Given the description of an element on the screen output the (x, y) to click on. 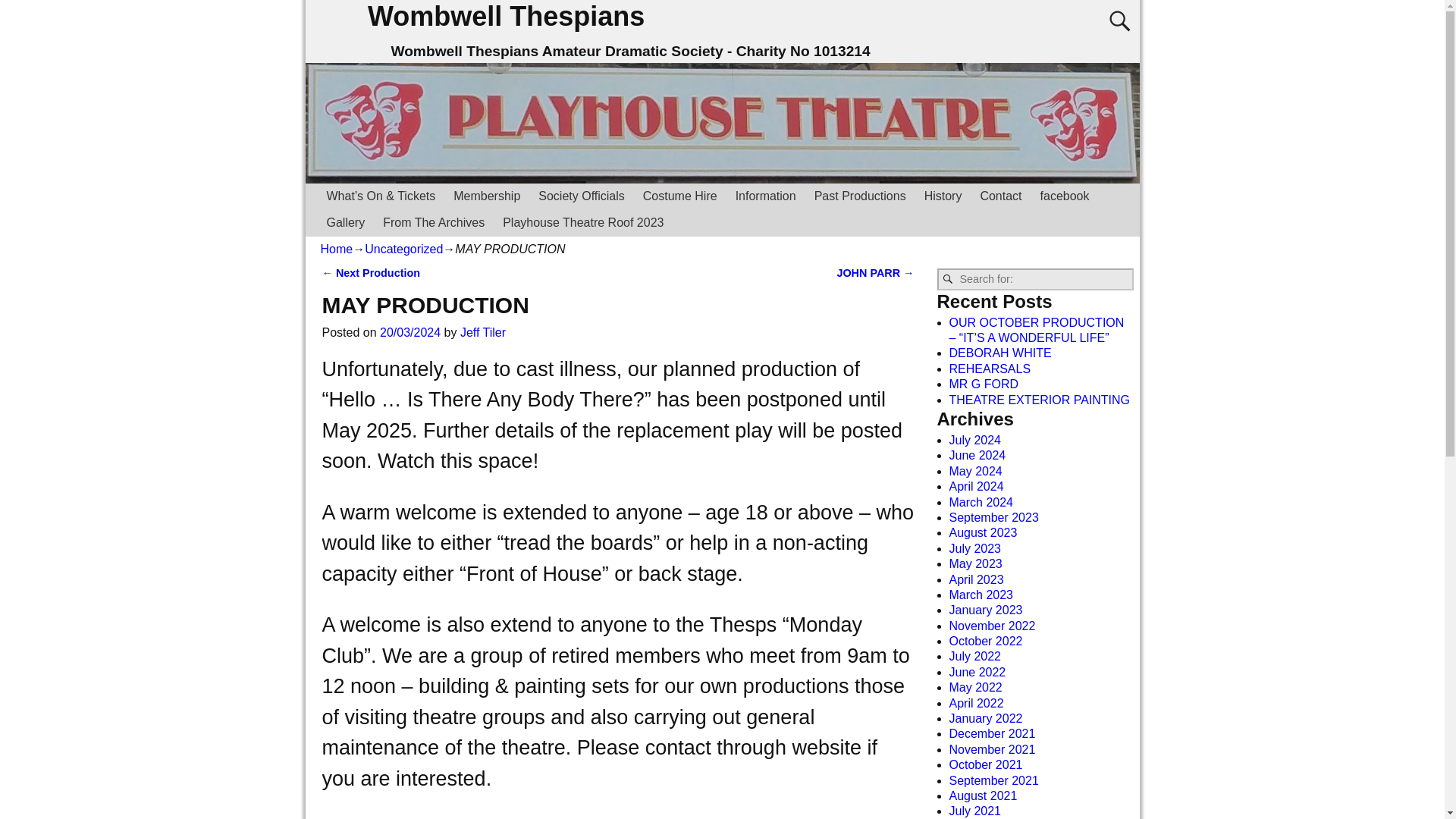
Home (336, 248)
Jeff Tiler (482, 332)
REHEARSALS (989, 368)
View all posts by Jeff Tiler (482, 332)
May 2024 (976, 471)
History (943, 196)
April 2024 (976, 486)
June 2024 (977, 454)
July 2024 (975, 440)
Contact (1000, 196)
MR G FORD (984, 383)
September 2023 (994, 517)
facebook (1064, 196)
Playhouse Theatre Roof 2023 (582, 222)
Uncategorized (403, 248)
